Given the description of an element on the screen output the (x, y) to click on. 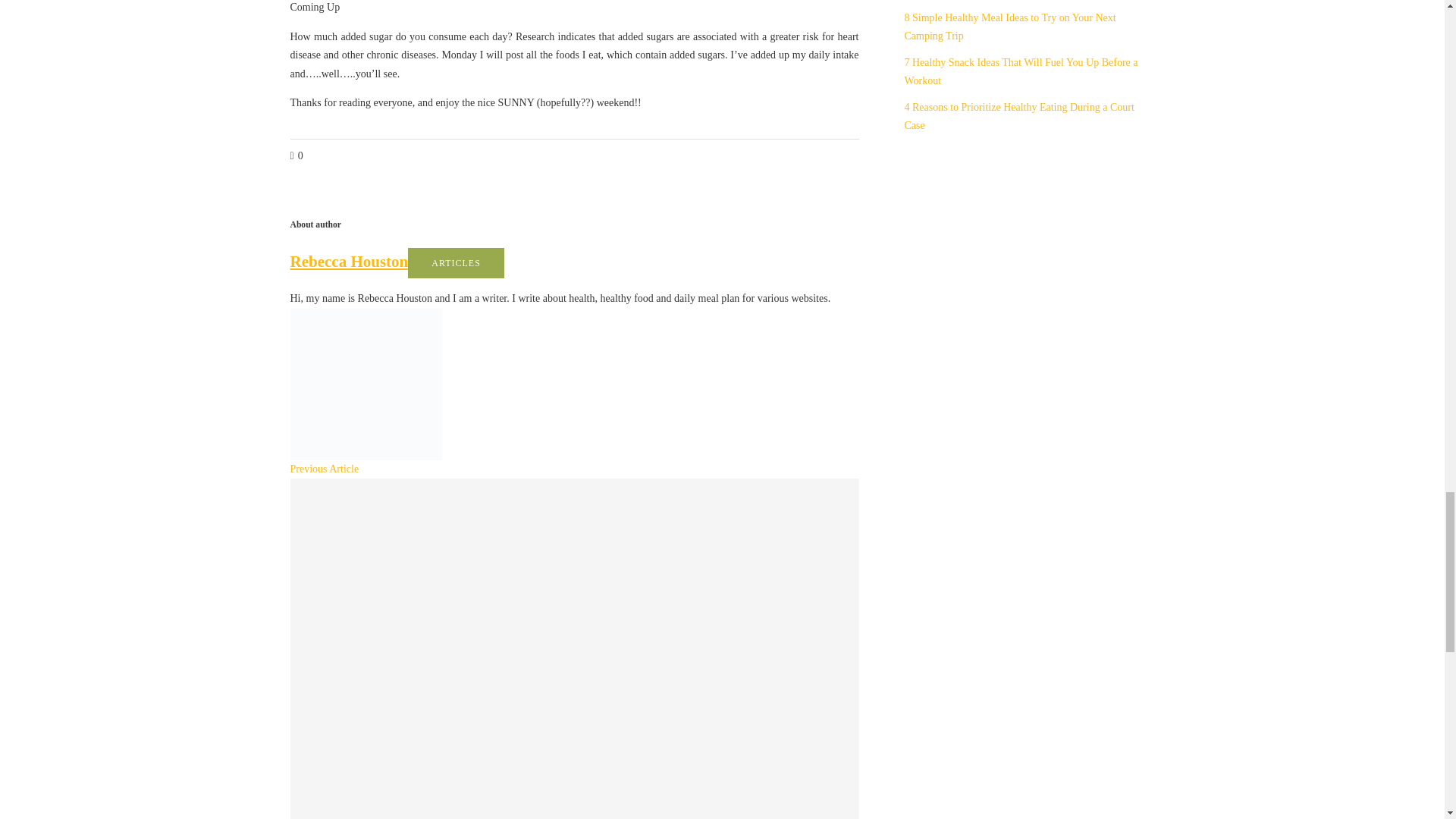
Posts by Rebecca Houston (348, 261)
ARTICLES (455, 263)
Rebecca Houston (348, 261)
